Given the description of an element on the screen output the (x, y) to click on. 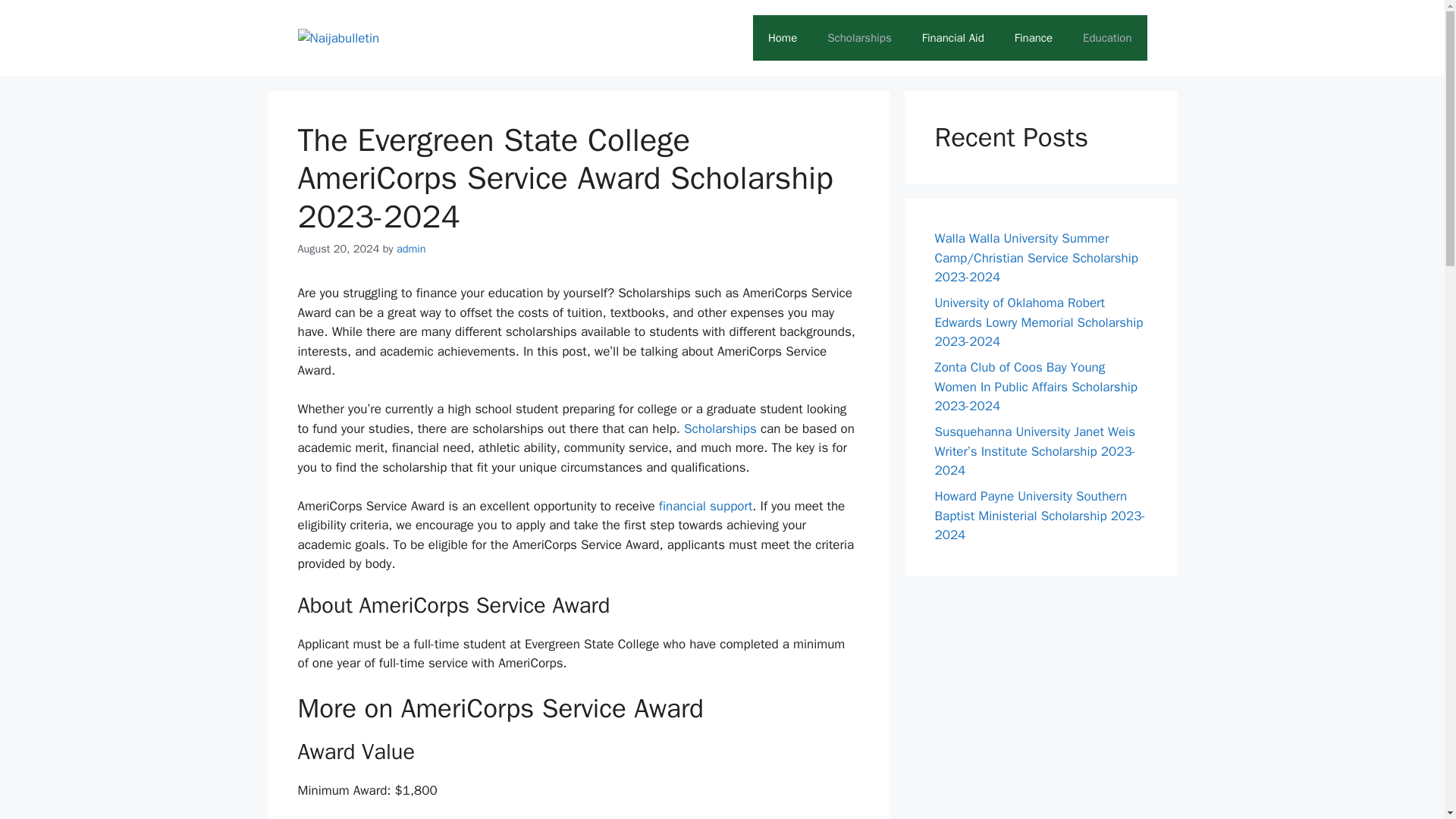
Finance (1032, 37)
Financial Aid (952, 37)
Home (782, 37)
Scholarships (720, 428)
financial support (705, 505)
Education (1107, 37)
View all posts by admin (411, 248)
Scholarships (858, 37)
